Given the description of an element on the screen output the (x, y) to click on. 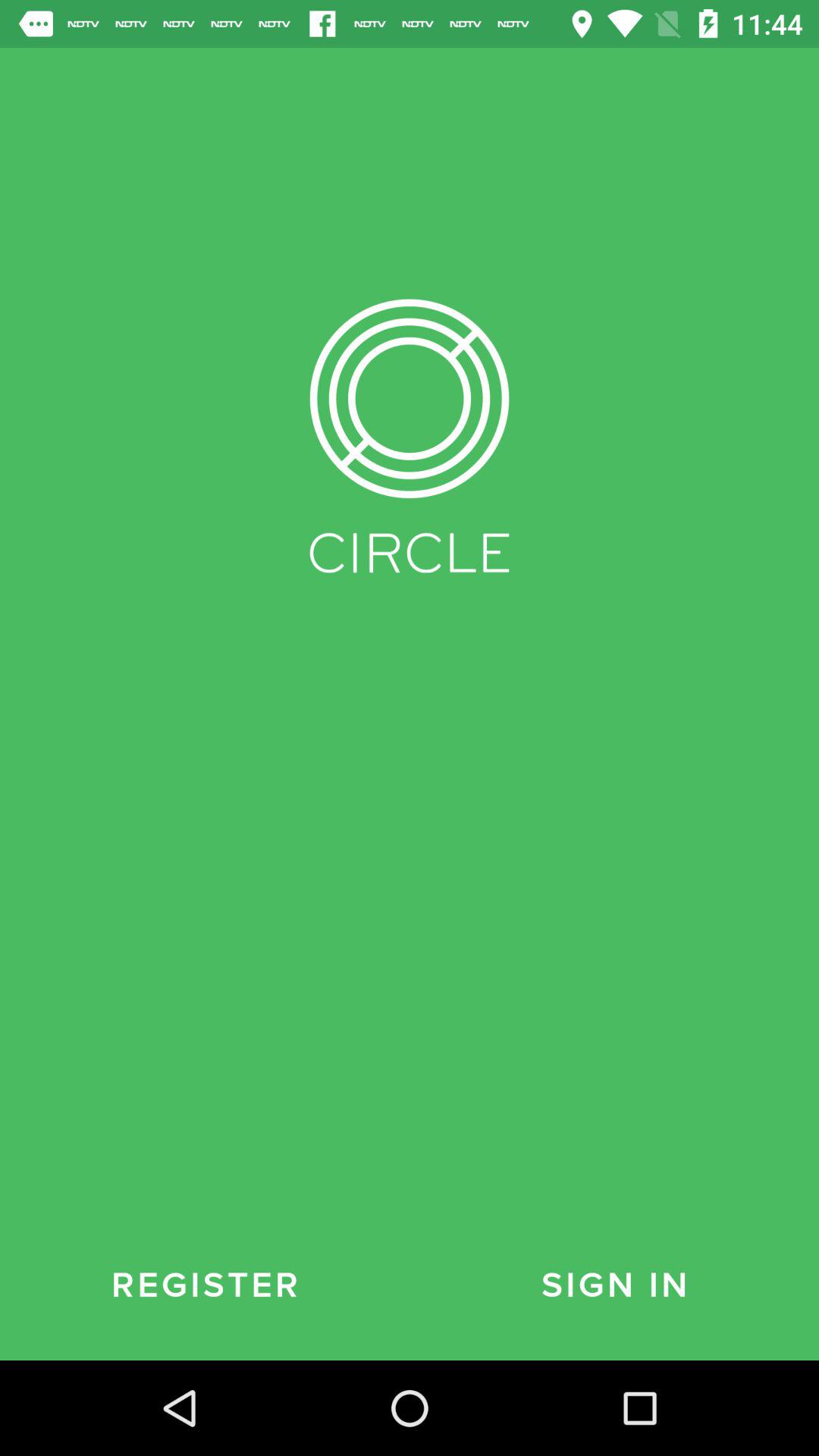
open sign in (614, 1285)
